Given the description of an element on the screen output the (x, y) to click on. 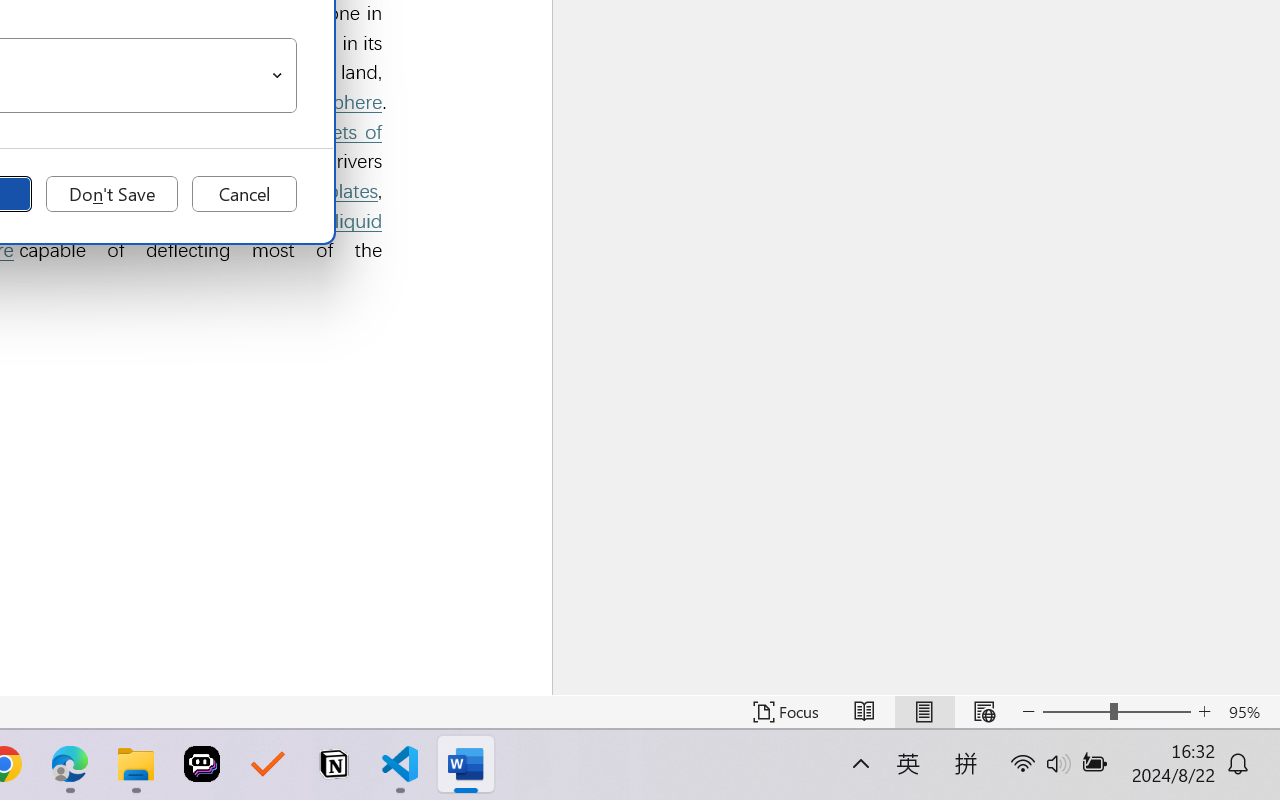
Notion (333, 764)
Zoom 95% (1249, 712)
